Given the description of an element on the screen output the (x, y) to click on. 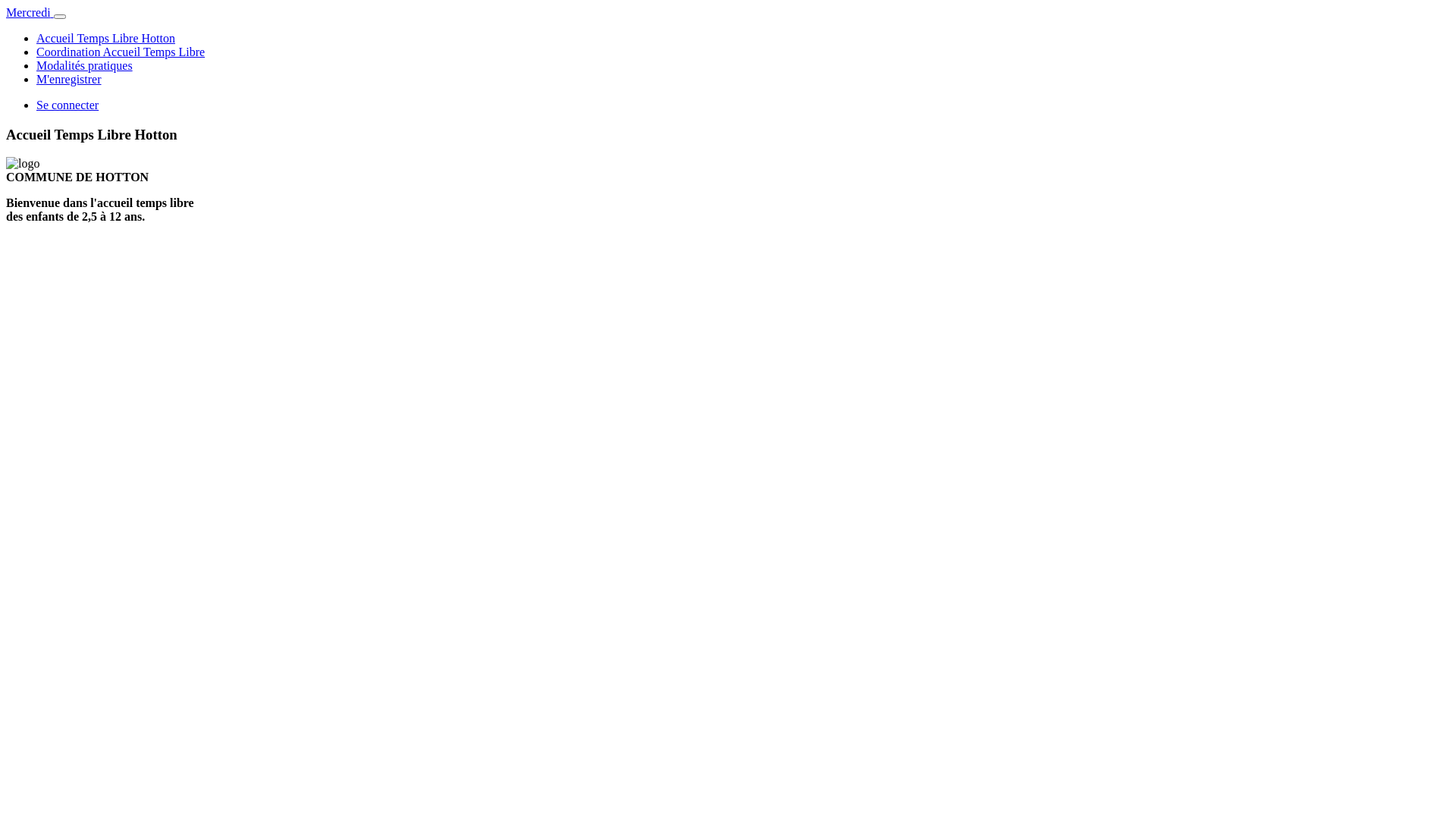
M'enregistrer Element type: text (68, 78)
Mercredi Element type: text (29, 12)
Accueil Temps Libre Hotton Element type: text (105, 37)
Coordination Accueil Temps Libre Element type: text (120, 51)
Se connecter Element type: text (67, 104)
